Given the description of an element on the screen output the (x, y) to click on. 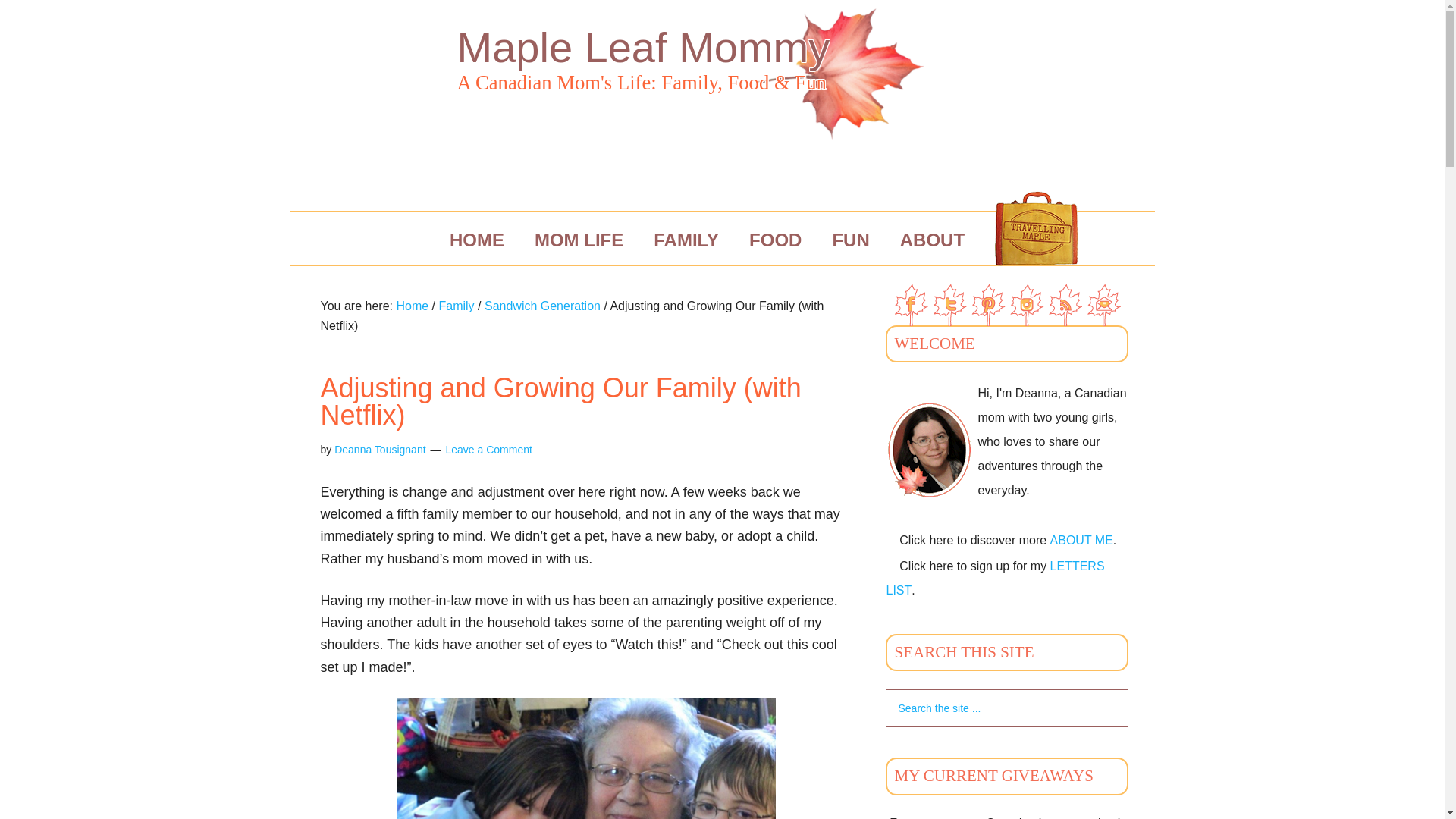
Leave a Comment (488, 449)
ABOUT (932, 240)
MOM LIFE (579, 240)
Deanna Tousignant (379, 449)
FOOD (774, 240)
Family (456, 305)
Sandwich Generation (541, 305)
HOME (476, 240)
FUN (849, 240)
